Given the description of an element on the screen output the (x, y) to click on. 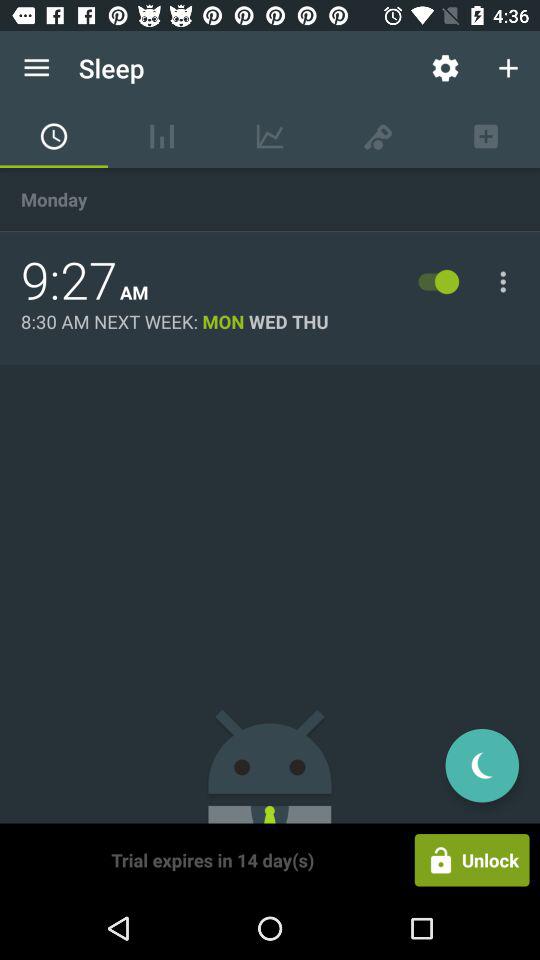
swipe until the 9:27 item (69, 281)
